Given the description of an element on the screen output the (x, y) to click on. 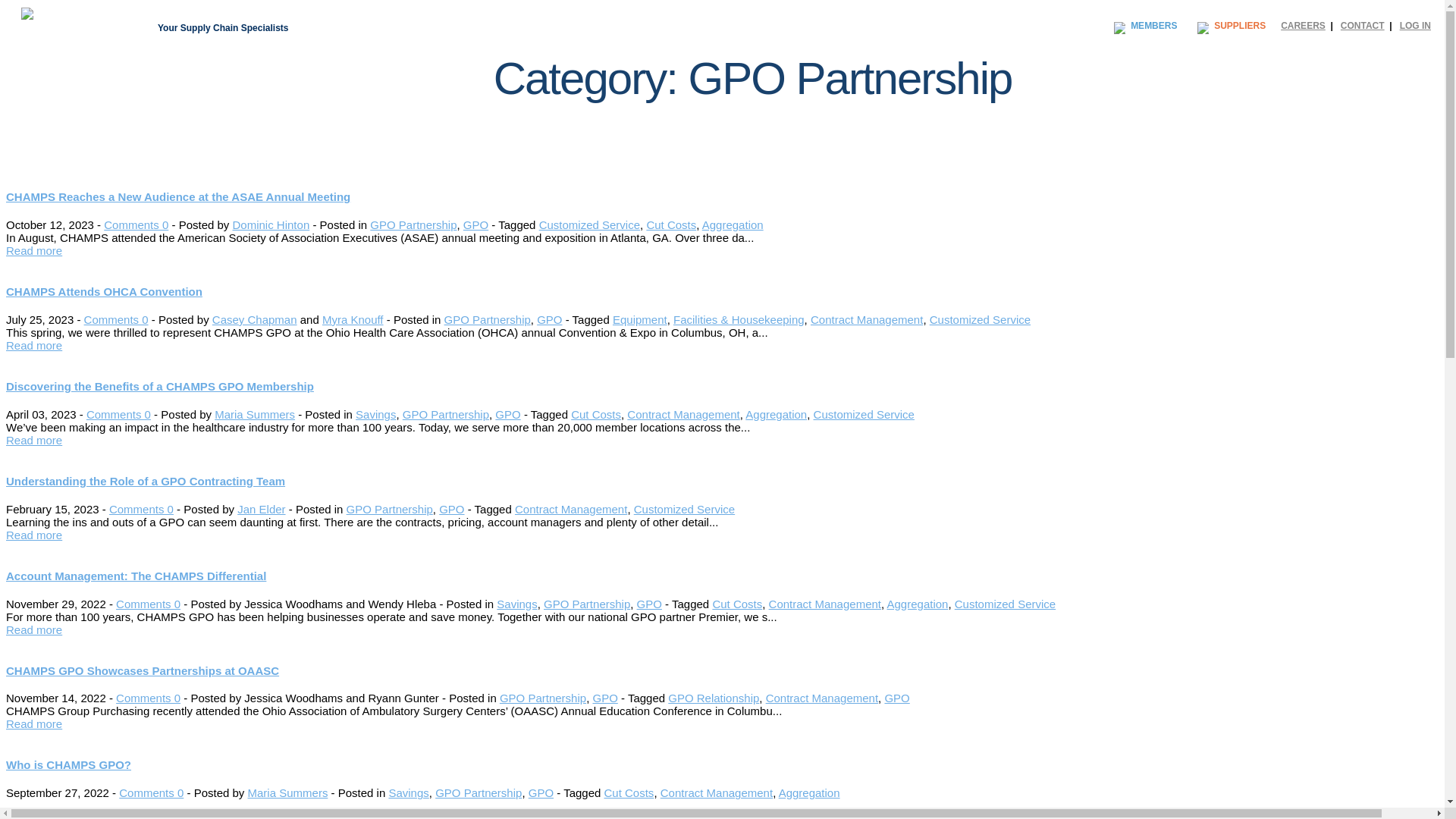
Cut Costs (595, 413)
Customized Service (863, 413)
Aggregation (775, 413)
Customized Service (589, 224)
Customized Service (980, 318)
GPO (475, 224)
GPO Partnership (487, 318)
GPO Partnership (446, 413)
CAREERS (1302, 25)
Contract Management (866, 318)
LOG IN (1415, 25)
CONTACT (1362, 25)
Contract Management (683, 413)
Cut Costs (670, 224)
GPO Partnership (413, 224)
